Given the description of an element on the screen output the (x, y) to click on. 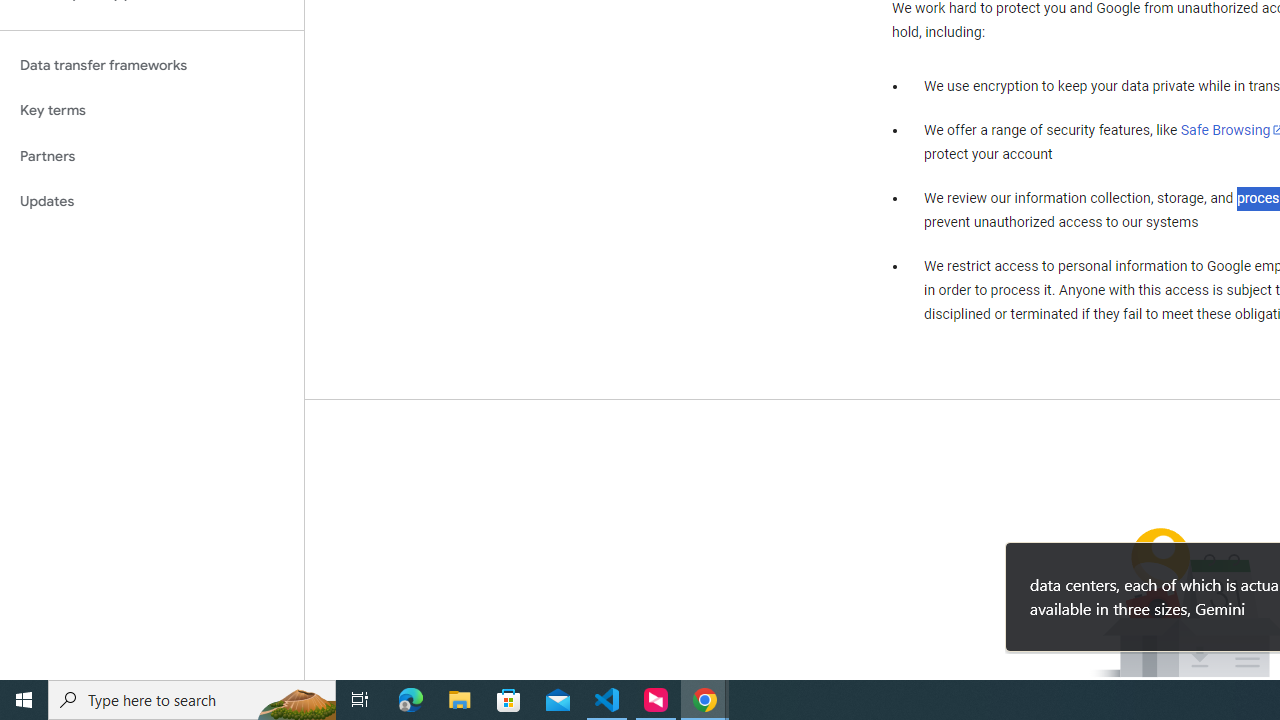
Data transfer frameworks (152, 65)
Key terms (152, 110)
Partners (152, 156)
Updates (152, 201)
